Given the description of an element on the screen output the (x, y) to click on. 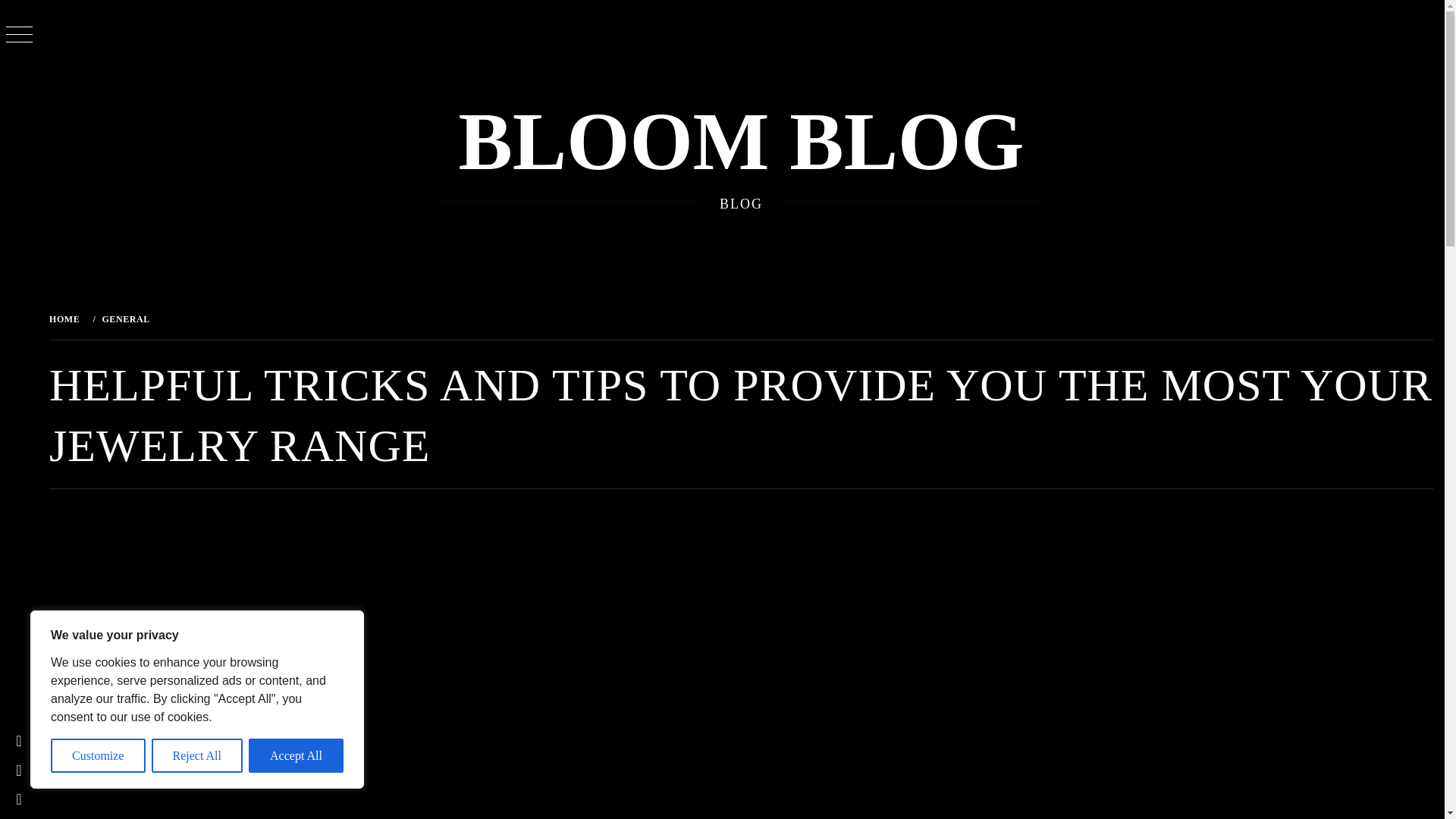
Reject All (197, 755)
BLOOM BLOG (740, 141)
GENERAL (124, 318)
Accept All (295, 755)
HOME (66, 318)
Customize (97, 755)
